Given the description of an element on the screen output the (x, y) to click on. 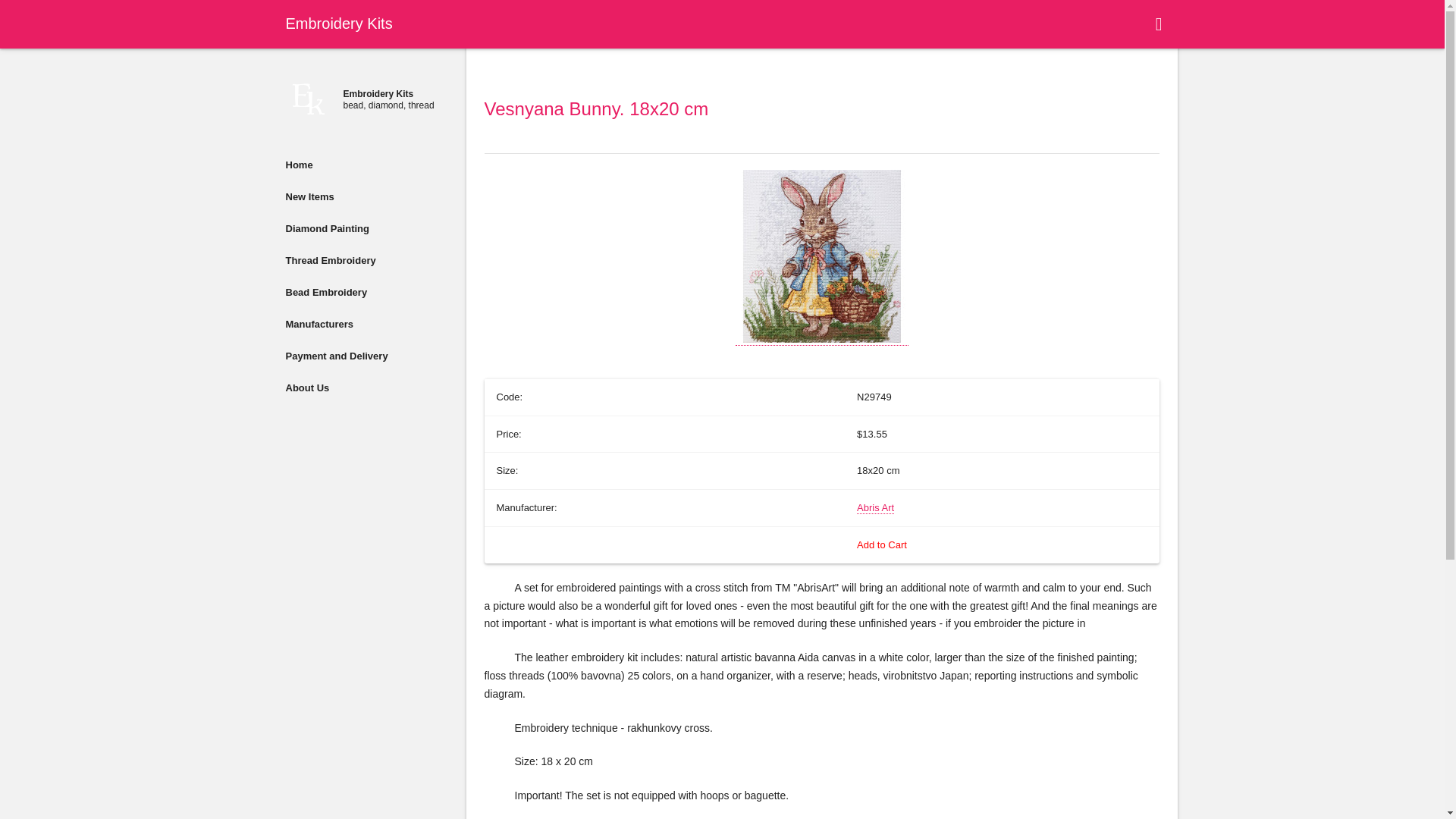
Diamond Painting (365, 228)
Abris Art (875, 508)
Bead Embroidery (365, 291)
New Items (365, 196)
About Us (365, 387)
Thread Embroidery (365, 260)
Bead Embroidery (365, 291)
Manufacturers (365, 323)
Manufacturers (365, 323)
Diamond Painting (365, 228)
